Given the description of an element on the screen output the (x, y) to click on. 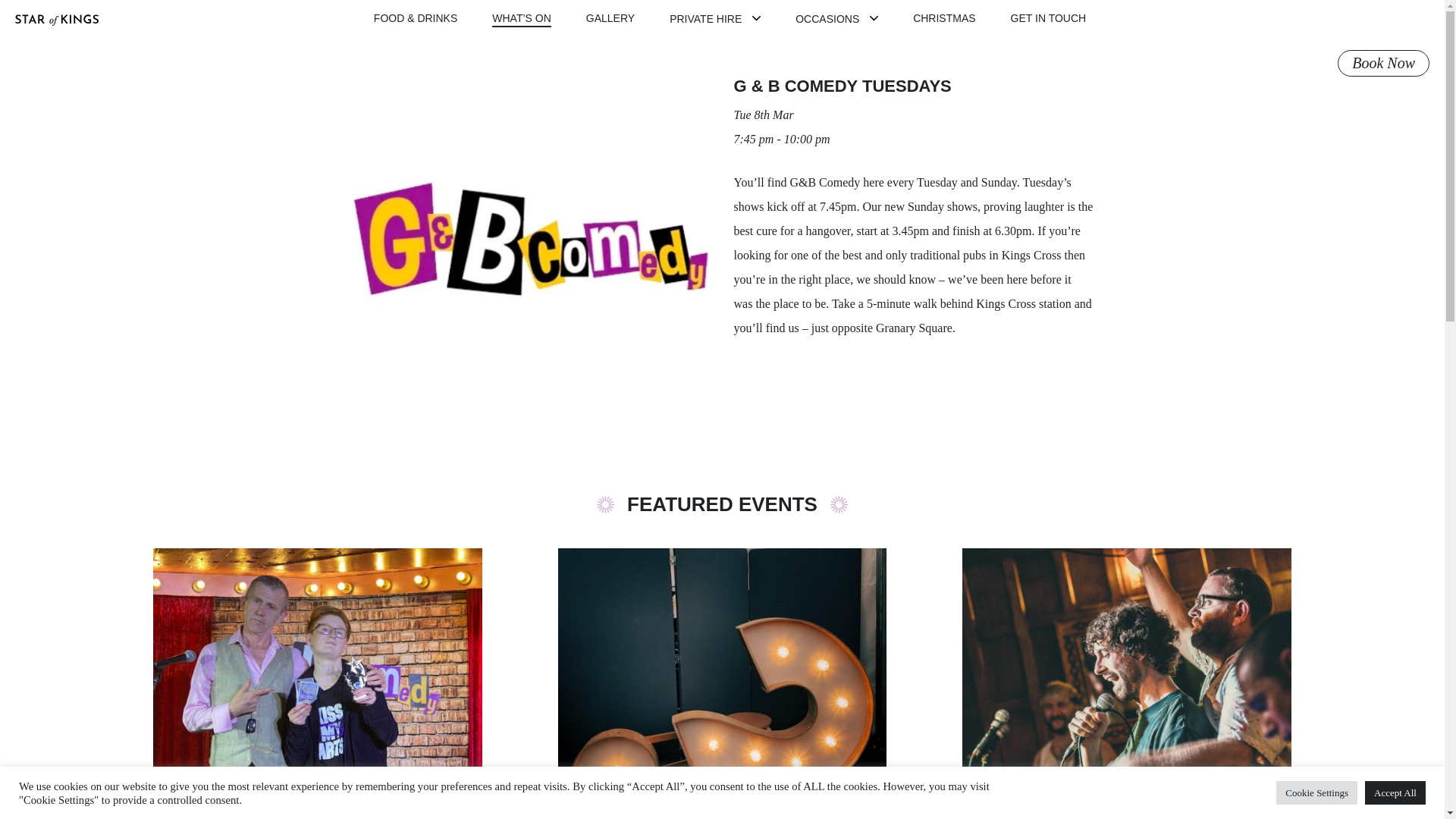
OCCASIONS (826, 18)
PRIVATE HIRE (705, 18)
GALLERY (610, 18)
Book Now (1383, 62)
CHRISTMAS (943, 18)
GET IN TOUCH (1048, 18)
STAR OF KINGS (56, 55)
